Given the description of an element on the screen output the (x, y) to click on. 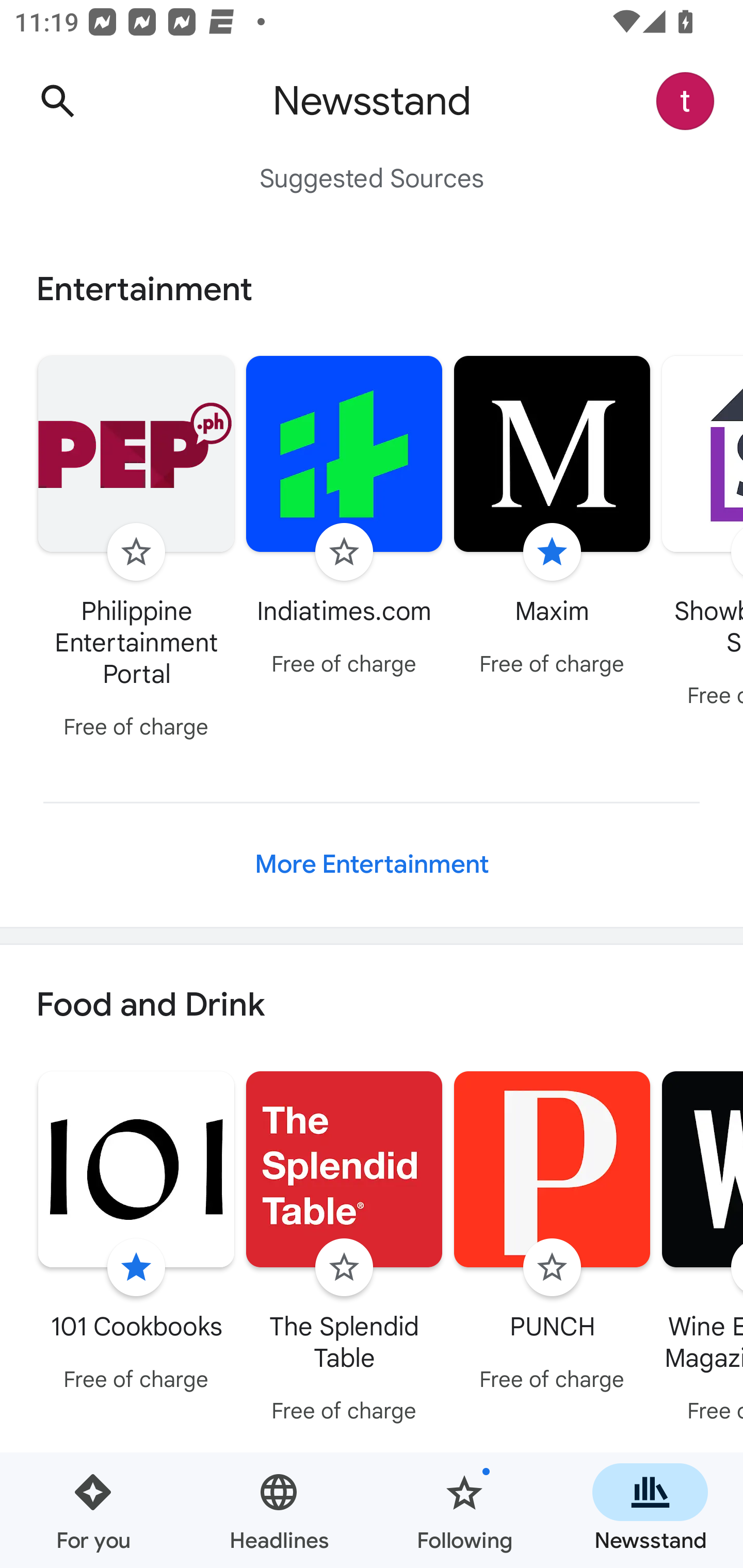
Search (57, 100)
Entertainment (371, 288)
Follow Indiatimes.com Free of charge (344, 517)
Unfollow Maxim Free of charge (552, 517)
Follow (135, 551)
Follow (343, 551)
Unfollow (552, 551)
More Entertainment (371, 864)
Food and Drink (371, 1005)
Unfollow 101 Cookbooks Free of charge (136, 1234)
Follow The Splendid Table Free of charge (344, 1250)
Follow PUNCH Free of charge (552, 1234)
Unfollow (135, 1267)
Follow (343, 1267)
Follow (552, 1267)
For you (92, 1509)
Headlines (278, 1509)
Following (464, 1509)
Newsstand (650, 1509)
